Given the description of an element on the screen output the (x, y) to click on. 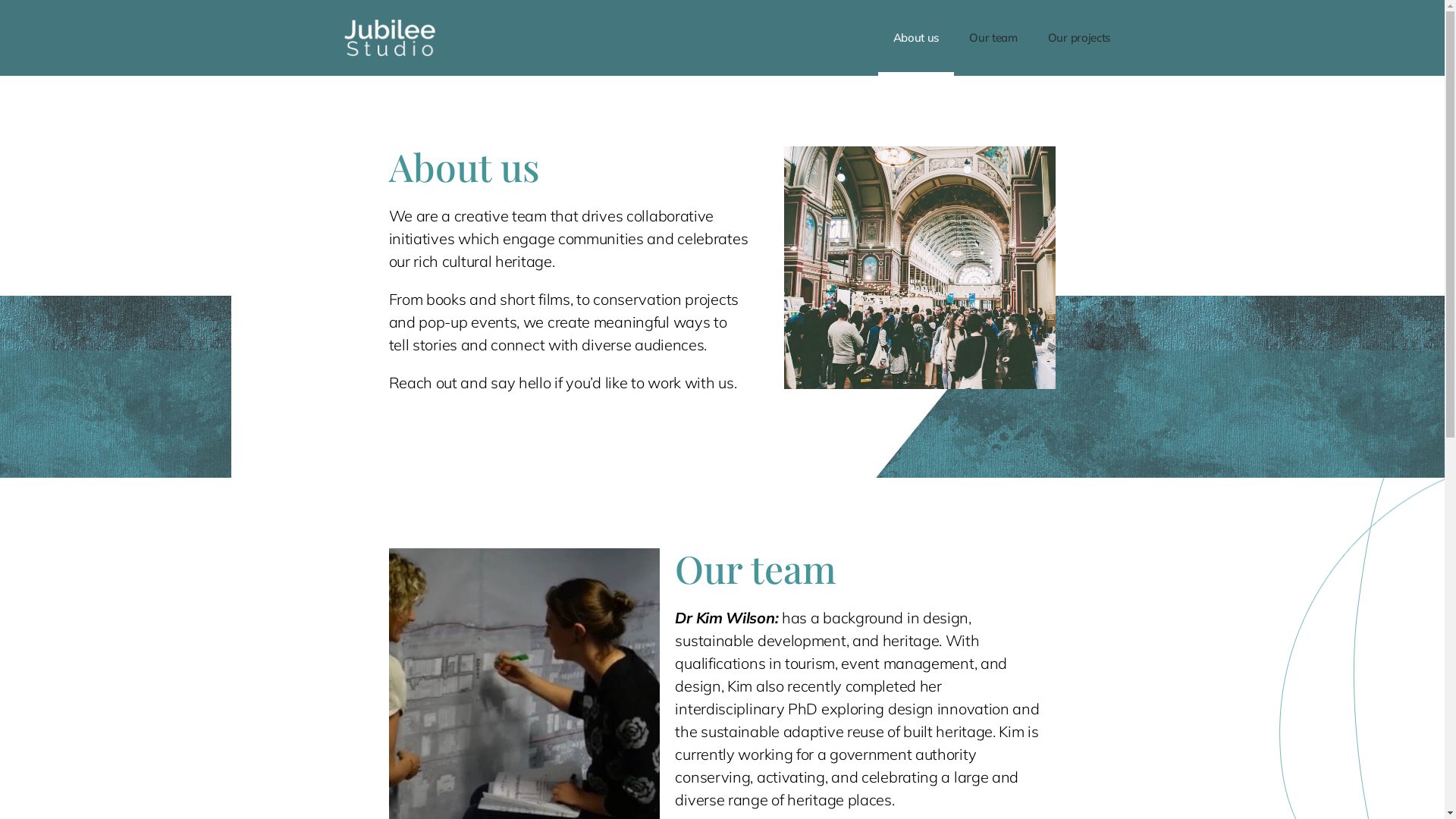
Our team Element type: text (992, 37)
Our projects Element type: text (1078, 37)
About us Element type: text (916, 37)
